Given the description of an element on the screen output the (x, y) to click on. 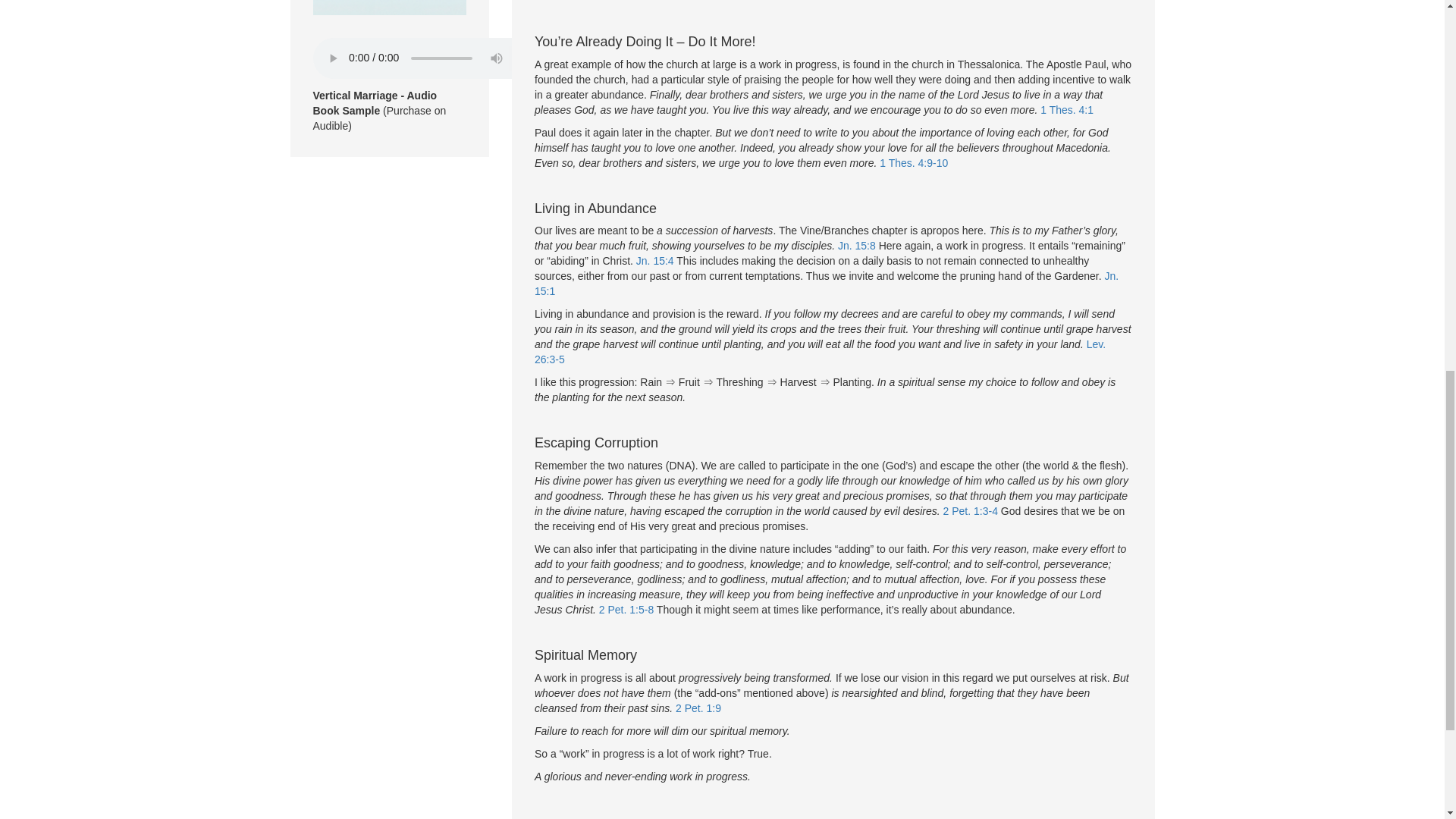
2 Pet. 1:9 (697, 707)
Jn. 15:4 (655, 260)
Jn. 15:8 (857, 245)
Gal. 5:24-25 (563, 1)
1 Thes. 4:1 (1067, 110)
1 Thes. 4:9-10 (913, 162)
Lev. 26:3-5 (819, 351)
Jn. 15:1 (826, 283)
2 Pet. 1:3-4 (970, 510)
2 Pet. 1:5-8 (625, 609)
